Given the description of an element on the screen output the (x, y) to click on. 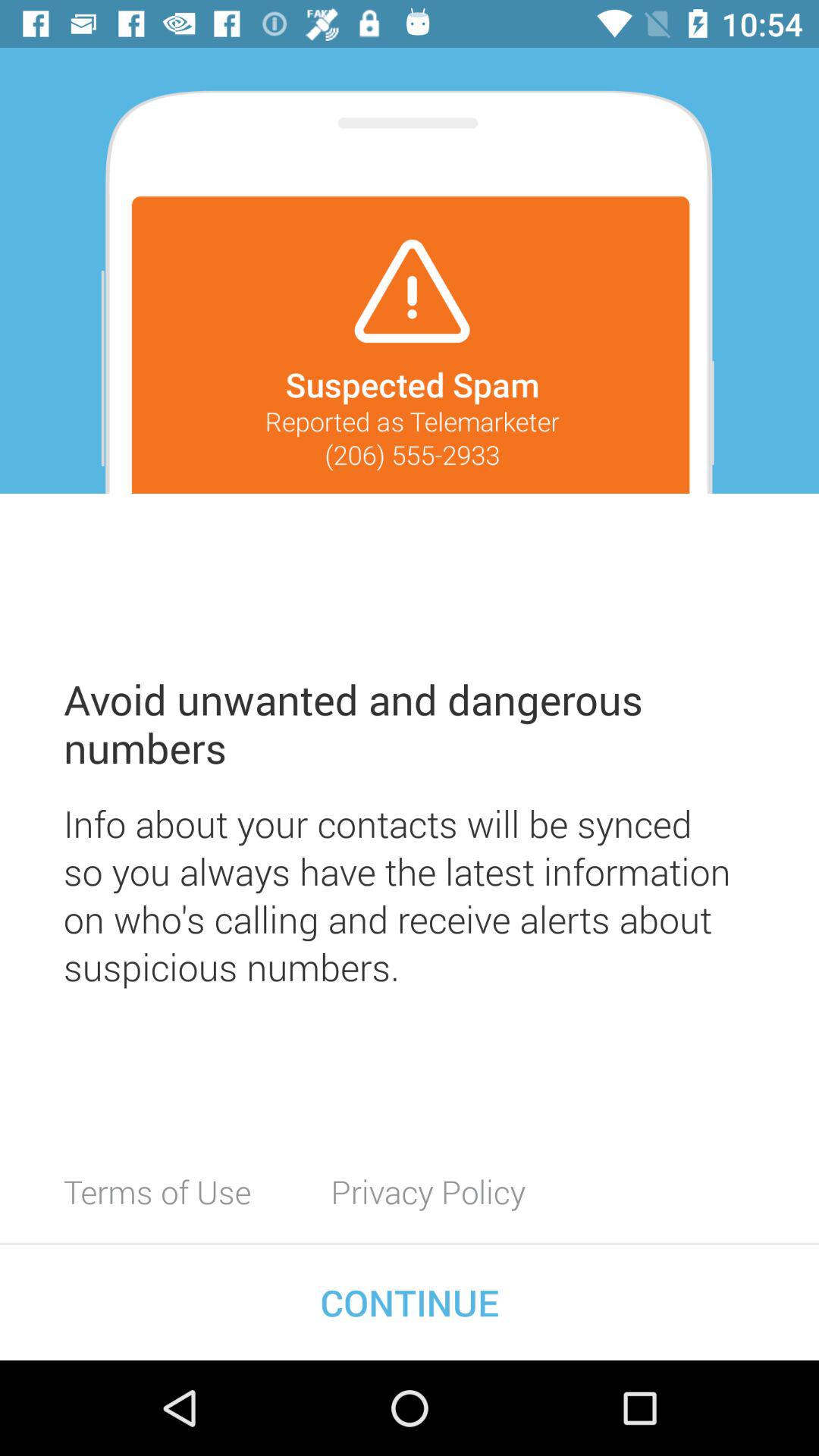
click icon at the bottom left corner (157, 1191)
